Given the description of an element on the screen output the (x, y) to click on. 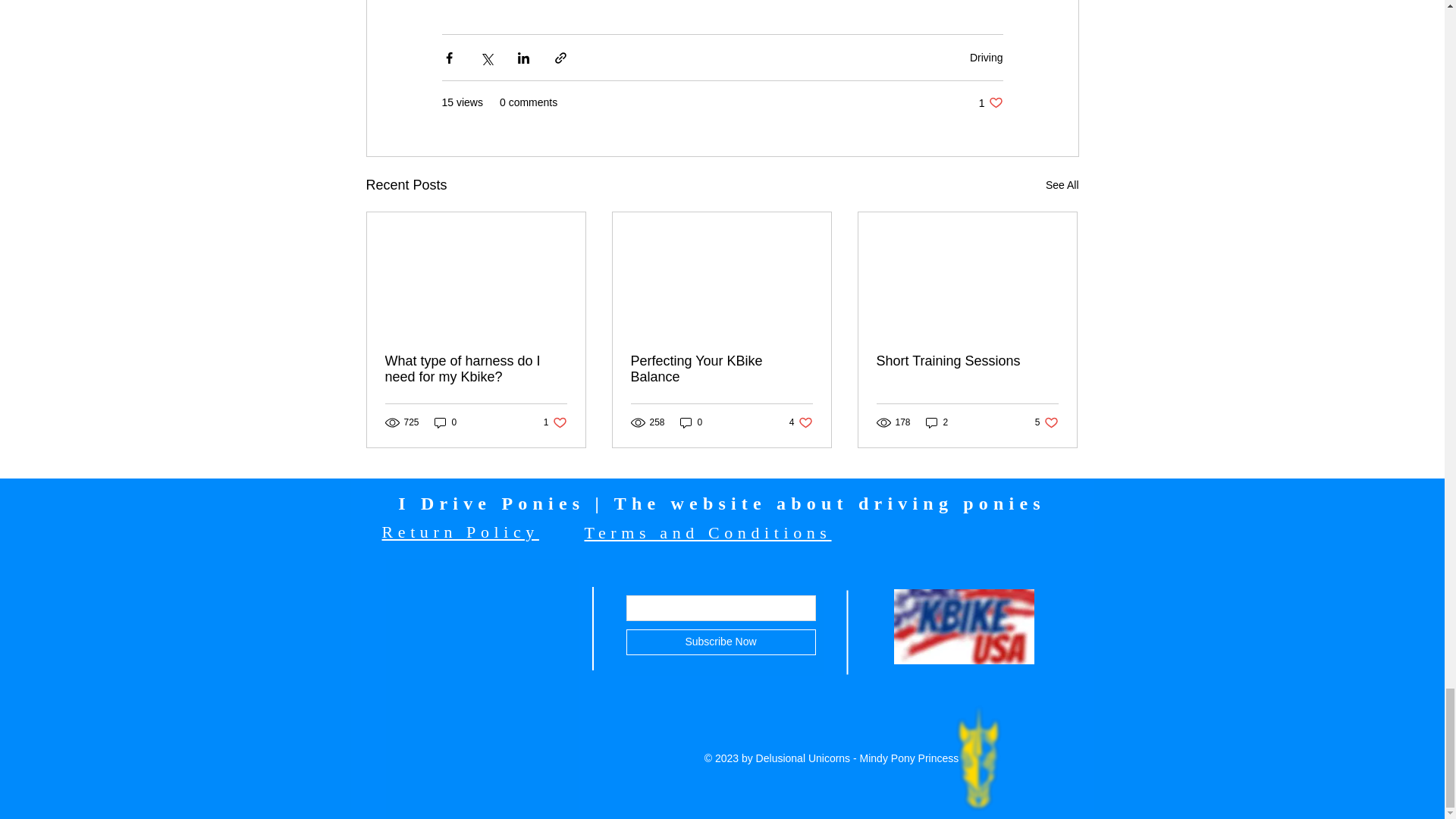
What type of harness do I need for my Kbike? (990, 102)
Return Policy (800, 422)
Short Training Sessions (476, 368)
Terms and Conditions (1046, 422)
0 (459, 531)
0 (967, 360)
